Given the description of an element on the screen output the (x, y) to click on. 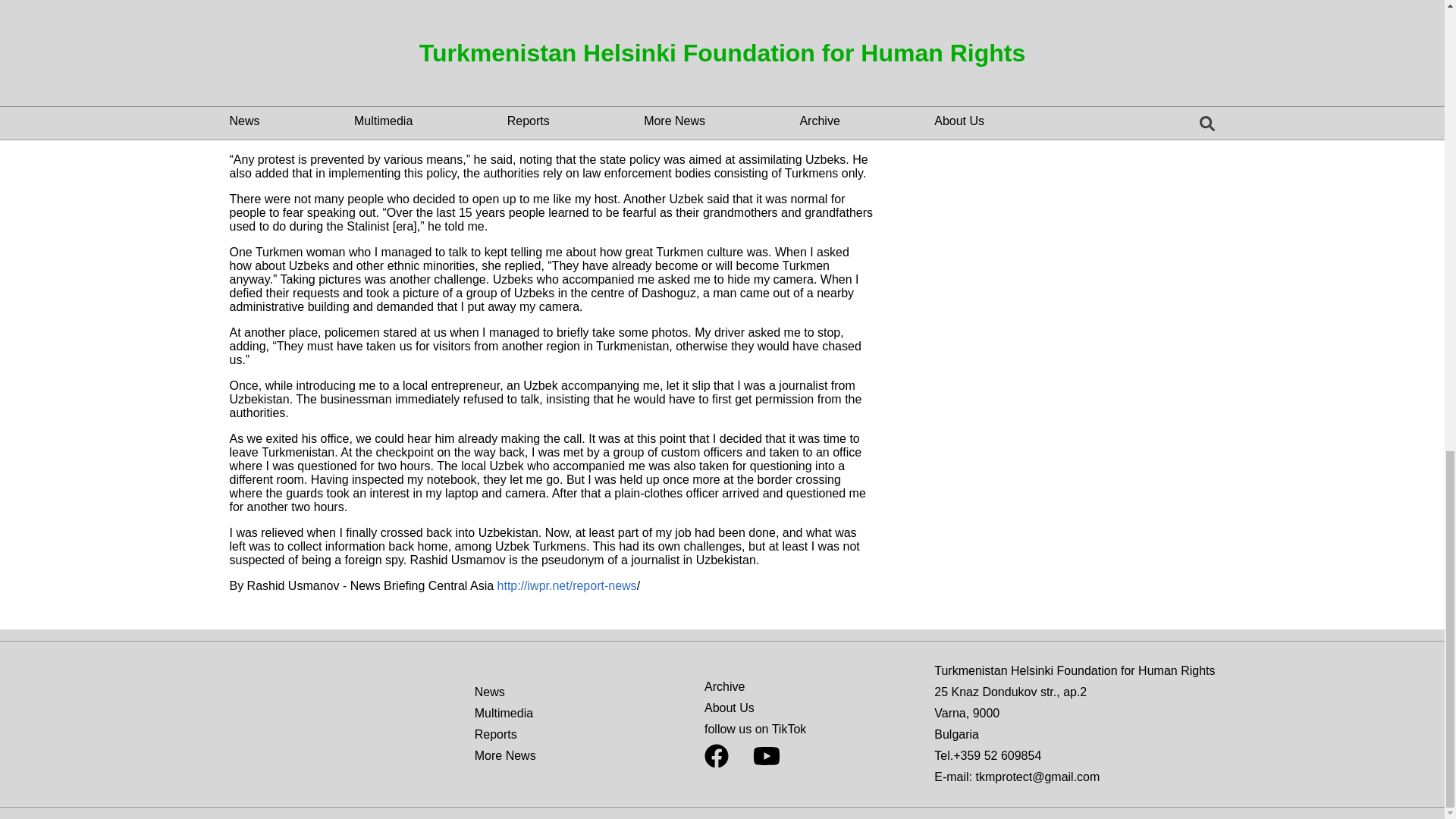
Facebook link (716, 760)
Facebook link (716, 755)
About Us (729, 707)
More News (504, 755)
Youtube link (766, 760)
Youtube link (766, 755)
follow us on TikTok (755, 728)
Reports (495, 734)
News (489, 691)
Archive (724, 686)
